Given the description of an element on the screen output the (x, y) to click on. 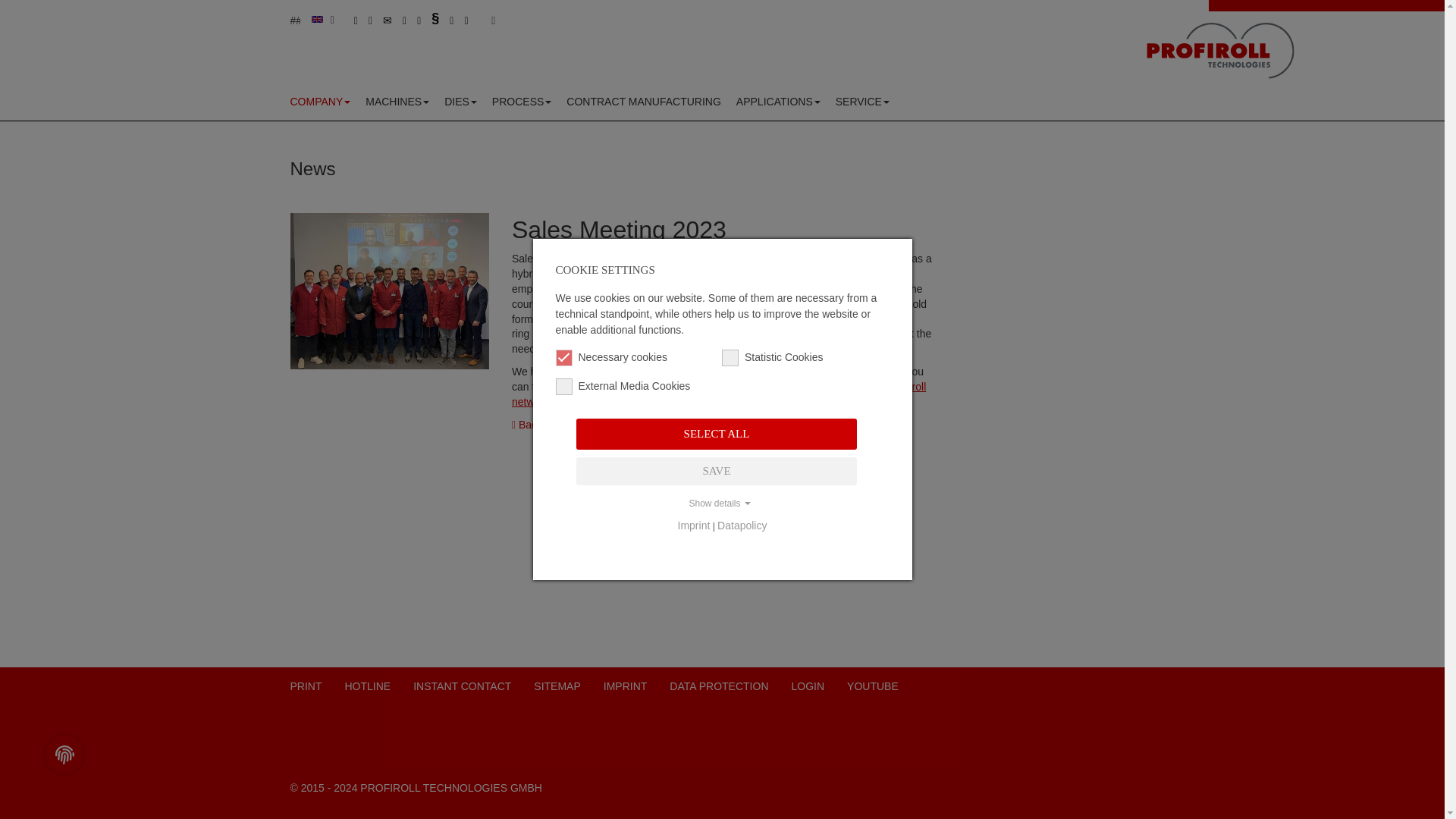
COMPANY (323, 101)
DEUTSCH (337, 44)
Machines (397, 101)
Service (862, 101)
Company (323, 101)
Print (306, 686)
To home page (1220, 51)
Process (521, 101)
Contract manufacturing (644, 101)
Dies (460, 101)
